Given the description of an element on the screen output the (x, y) to click on. 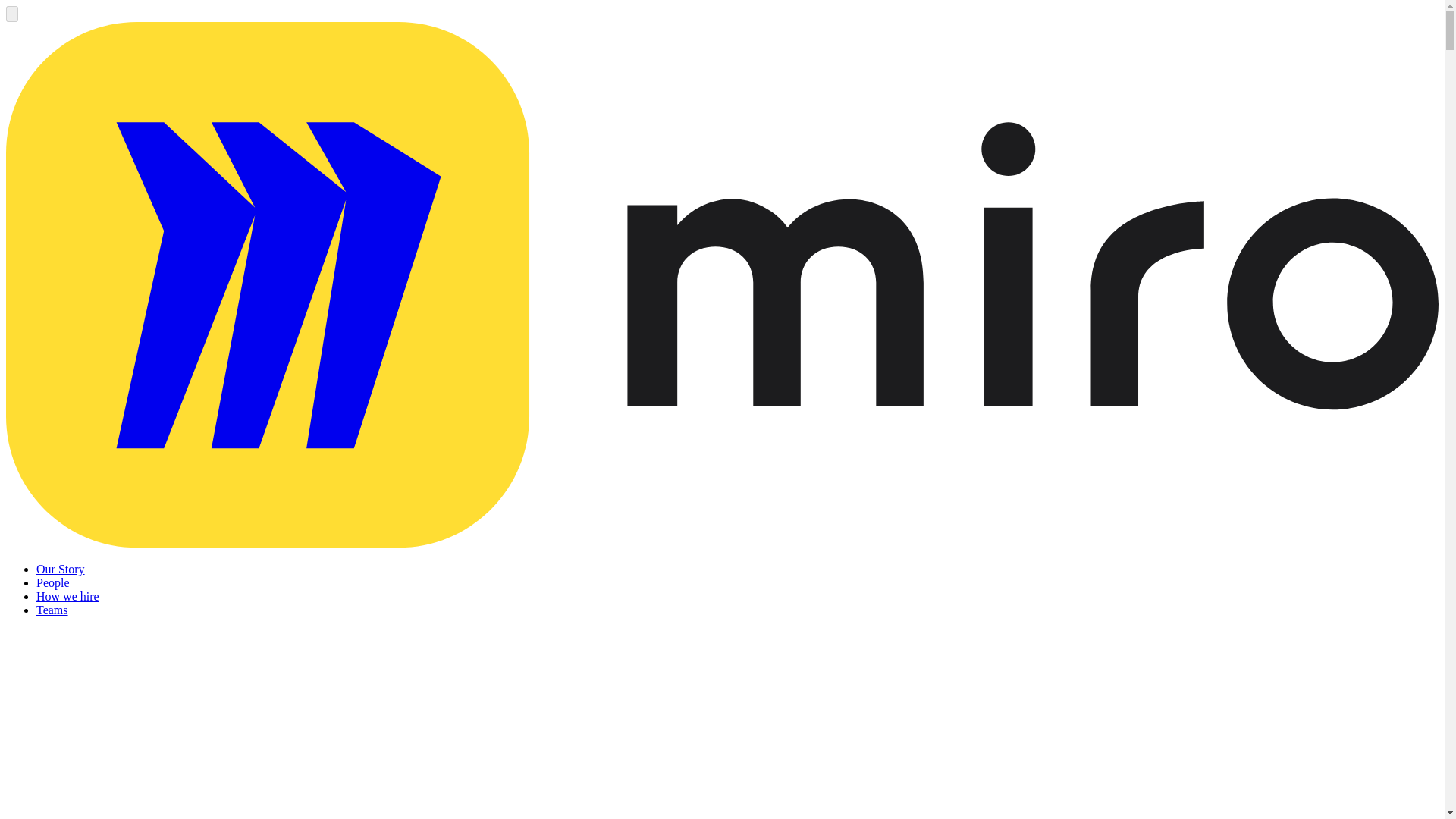
People (52, 582)
How we hire (67, 595)
Our Story (60, 568)
